Given the description of an element on the screen output the (x, y) to click on. 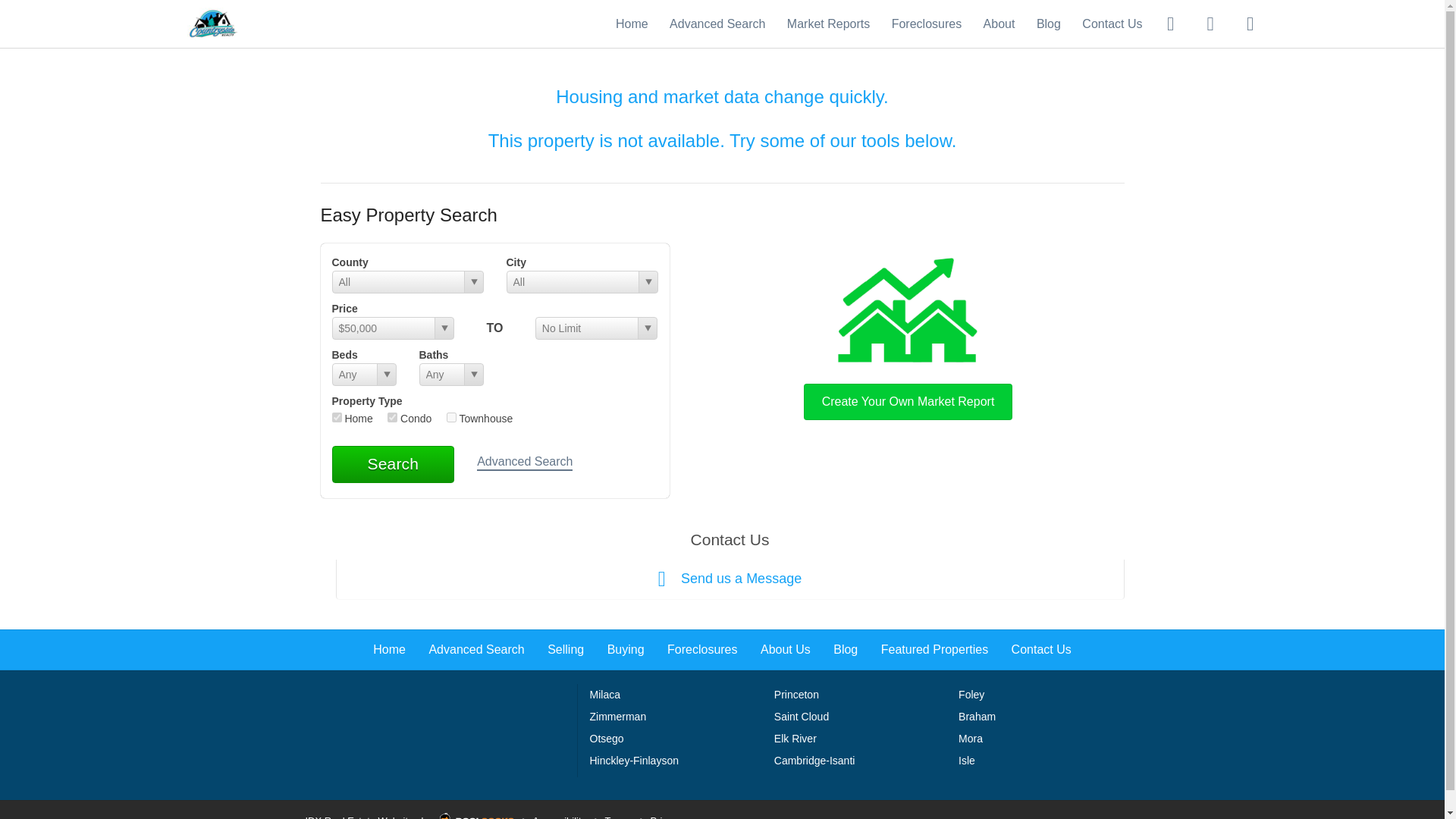
Otsego (606, 738)
Market Reports (828, 23)
Saint Cloud (801, 716)
con (392, 417)
Mora (970, 738)
Foreclosures (925, 23)
Milaca (604, 694)
Search (392, 463)
Home (389, 649)
Featured Properties (934, 649)
Princeton (796, 694)
Buying (626, 649)
Advanced Search (717, 23)
Braham (976, 716)
Contact Us (1041, 649)
